Given the description of an element on the screen output the (x, y) to click on. 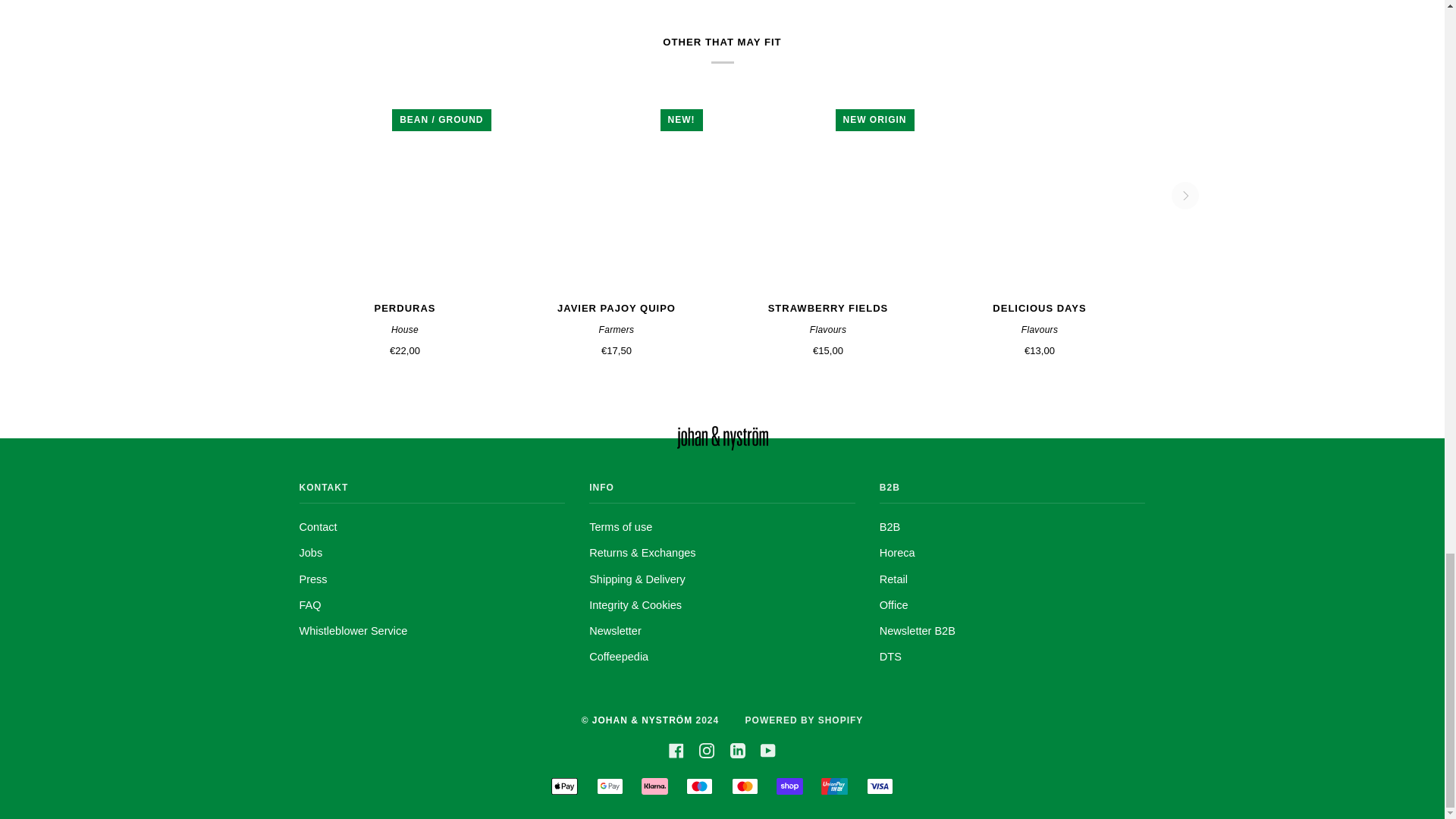
MAESTRO (699, 786)
Linkedin (737, 749)
UNION PAY (834, 786)
APPLE PAY (564, 786)
Facebook (676, 749)
MASTERCARD (745, 786)
Instagram (706, 749)
SHOP PAY (789, 786)
VISA (879, 786)
YouTube (768, 749)
